Given the description of an element on the screen output the (x, y) to click on. 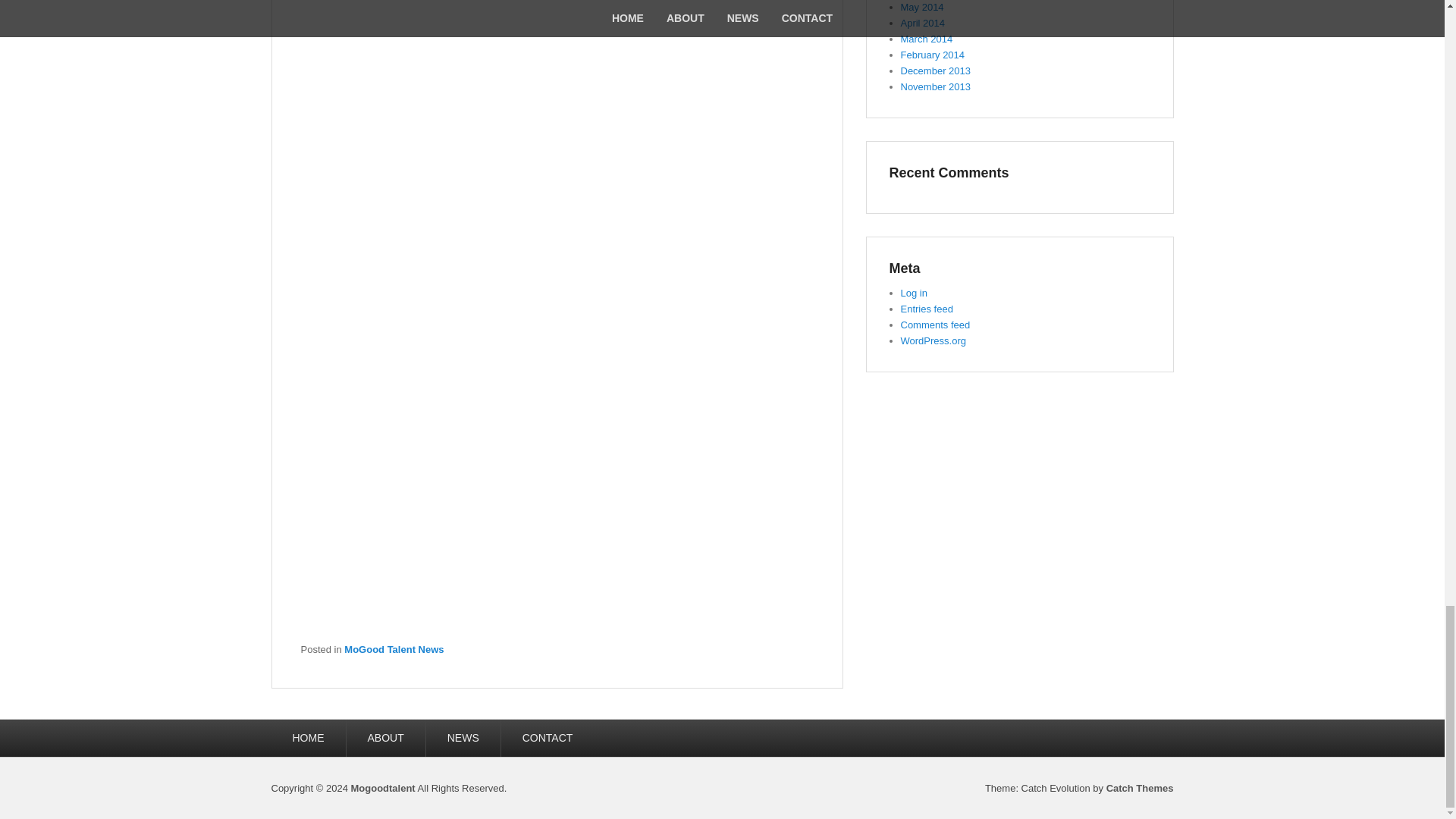
MoGood Talent News (393, 649)
Mogoodtalent (382, 787)
Catch Themes (1139, 787)
